Given the description of an element on the screen output the (x, y) to click on. 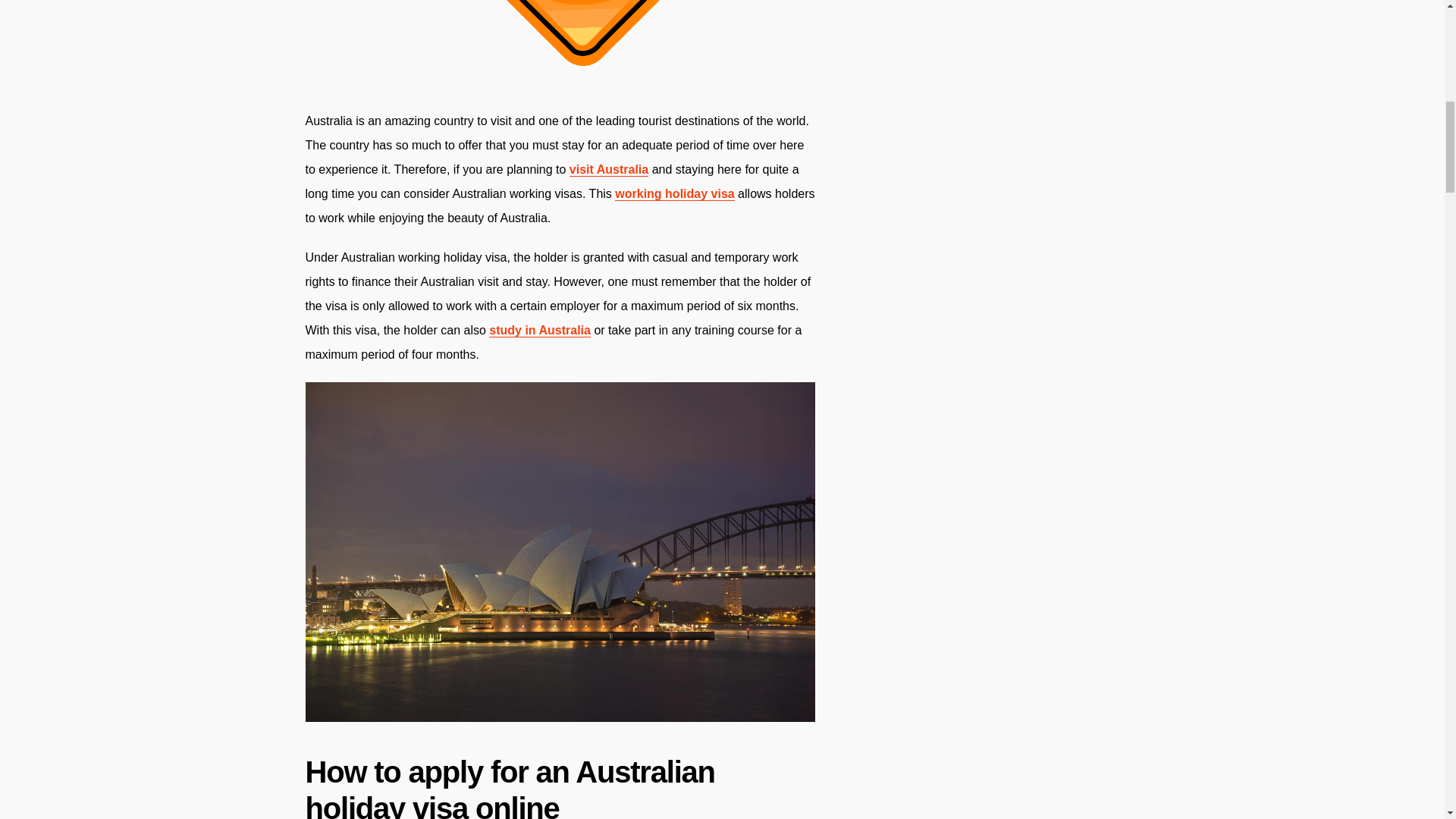
study in Australia (540, 330)
working holiday visa (673, 193)
study in Australia (540, 330)
visit Australia (608, 169)
working holiday visa (673, 193)
visit Australia (608, 169)
